Given the description of an element on the screen output the (x, y) to click on. 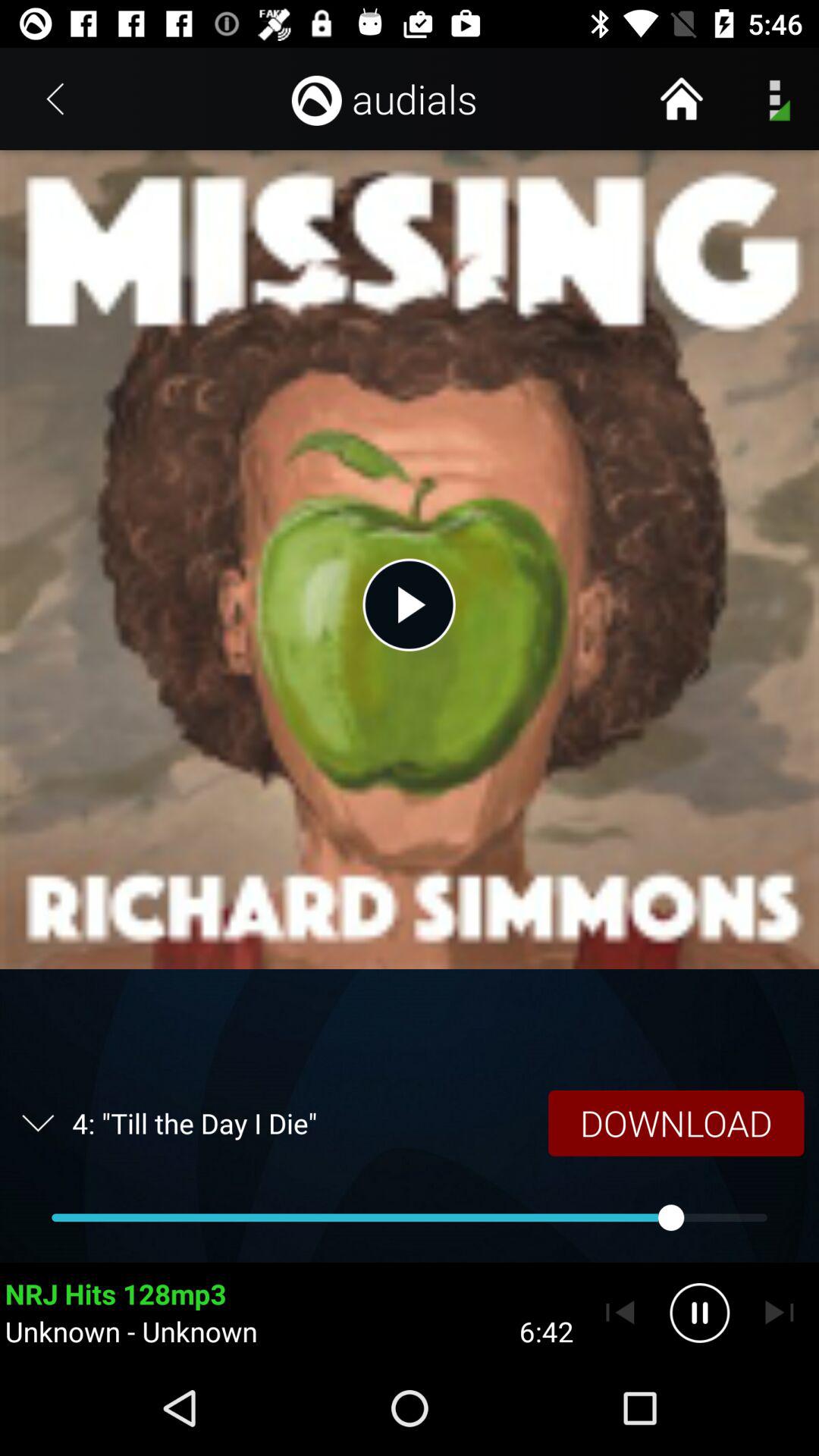
press item next to the 4 till the icon (676, 1123)
